Given the description of an element on the screen output the (x, y) to click on. 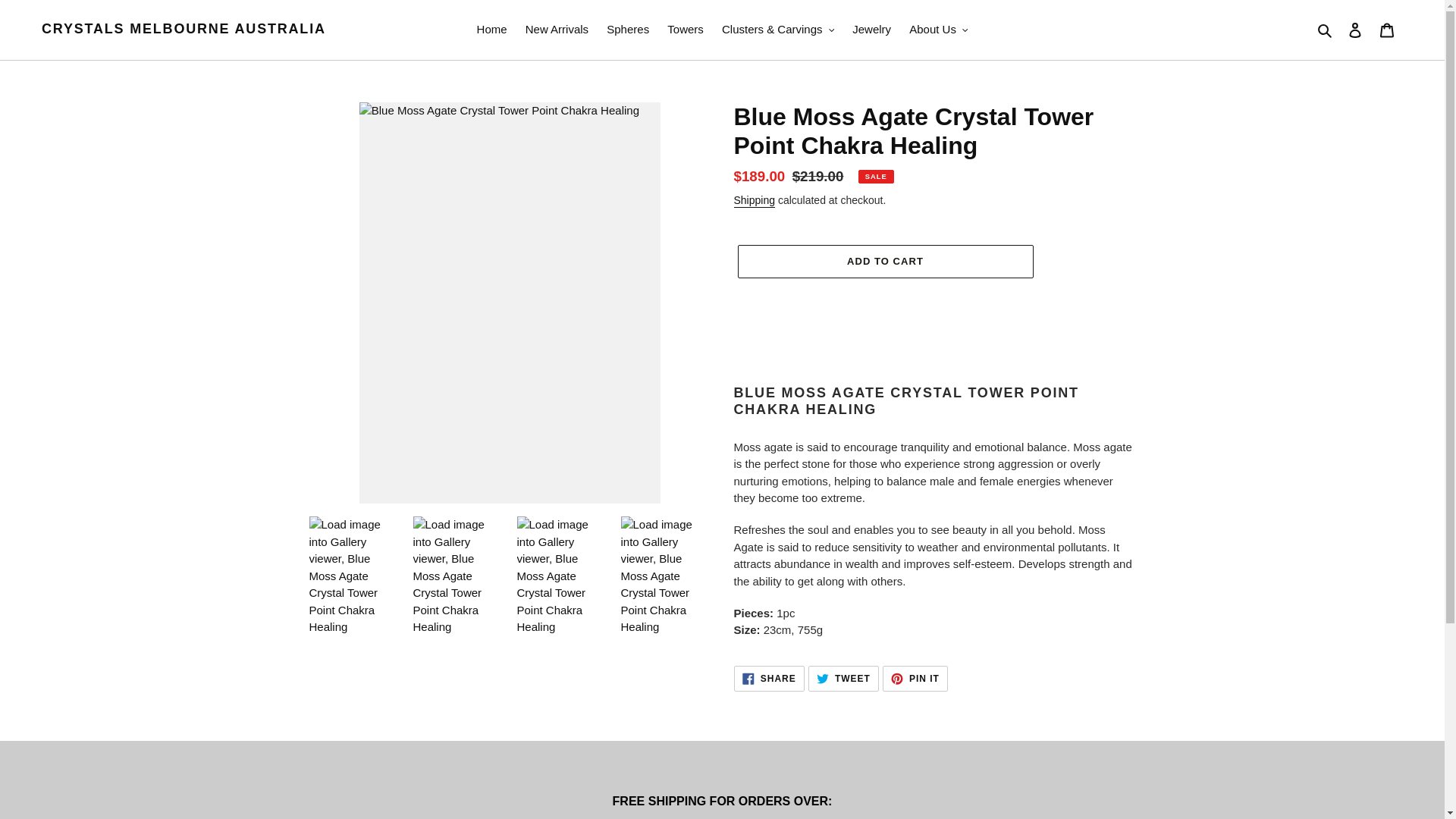
New Arrivals (556, 29)
Log in (1355, 29)
Home (491, 29)
Jewelry (871, 29)
Search (1326, 29)
Cart (1387, 29)
Spheres (627, 29)
CRYSTALS MELBOURNE AUSTRALIA (184, 29)
About Us (938, 29)
Towers (685, 29)
